Given the description of an element on the screen output the (x, y) to click on. 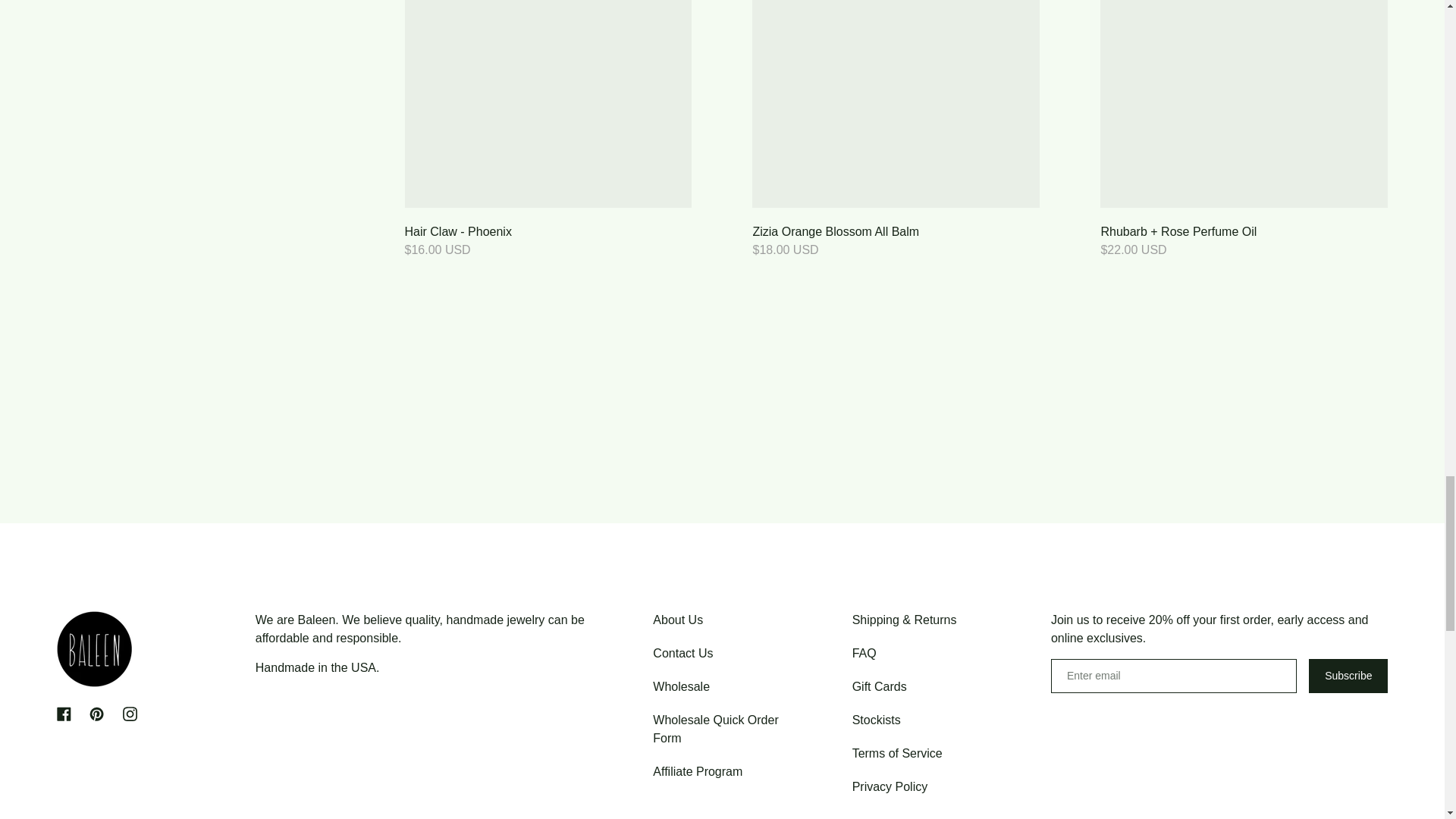
Baleen on Pinterest (96, 713)
Baleen on Instagram (129, 713)
Baleen on Facebook (63, 713)
